Given the description of an element on the screen output the (x, y) to click on. 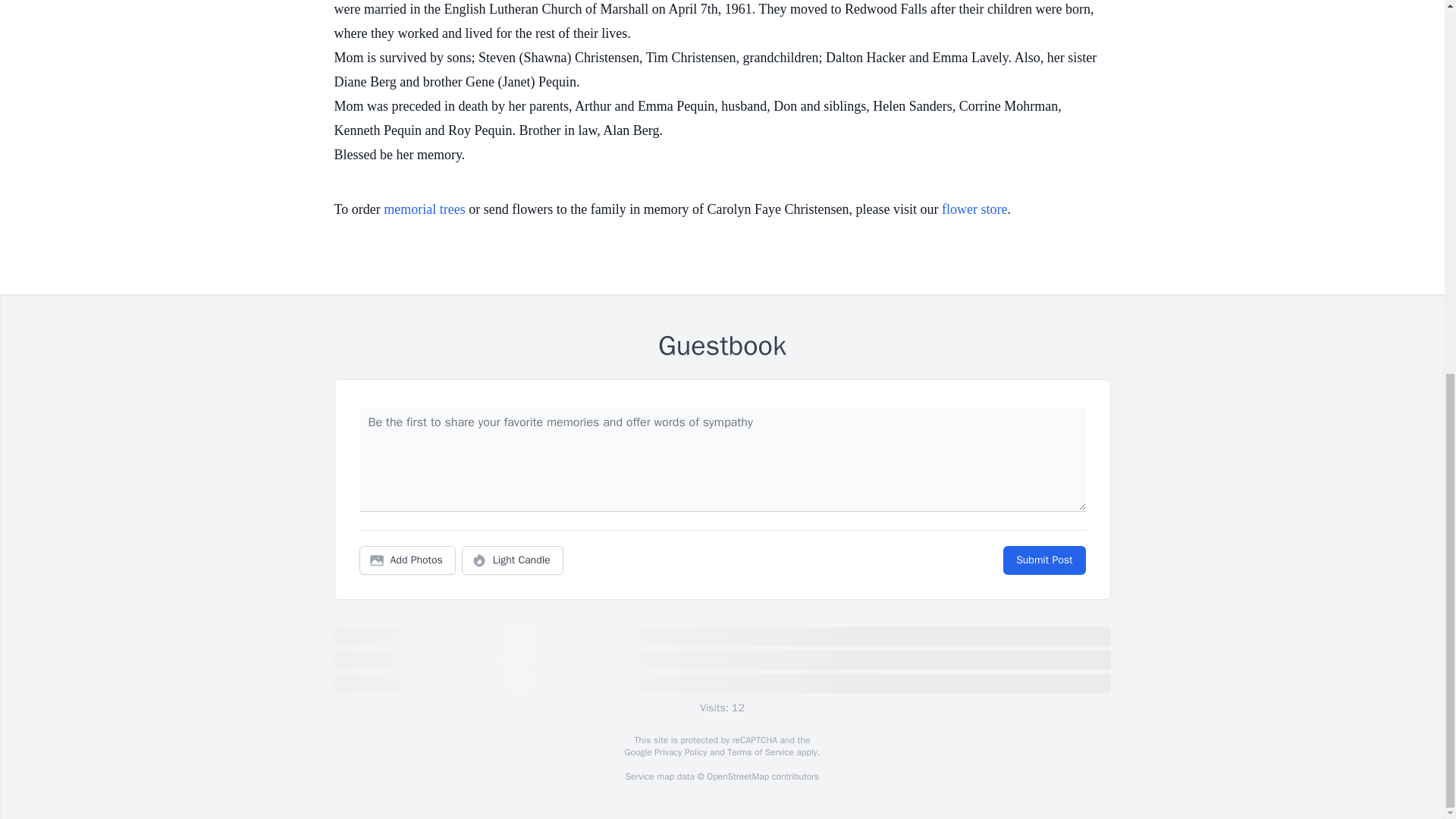
Light Candle (512, 560)
Add Photos (407, 560)
Terms of Service (759, 752)
memorial trees (424, 209)
Privacy Policy (679, 752)
Submit Post (1043, 560)
OpenStreetMap (737, 776)
flower store (974, 209)
